Given the description of an element on the screen output the (x, y) to click on. 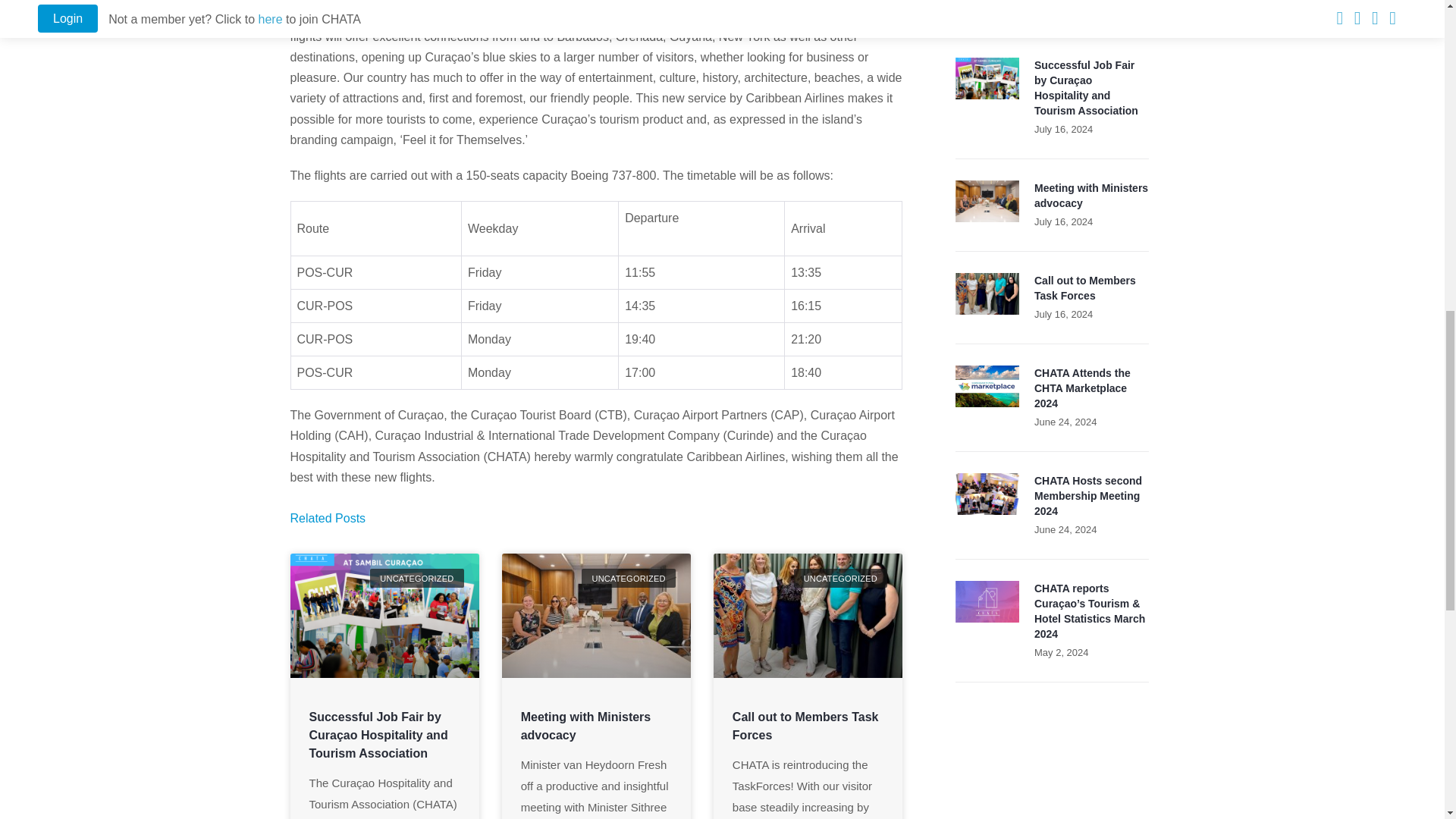
Meeting with Ministers advocacy (585, 726)
Call out to Members Task Forces (805, 726)
